Given the description of an element on the screen output the (x, y) to click on. 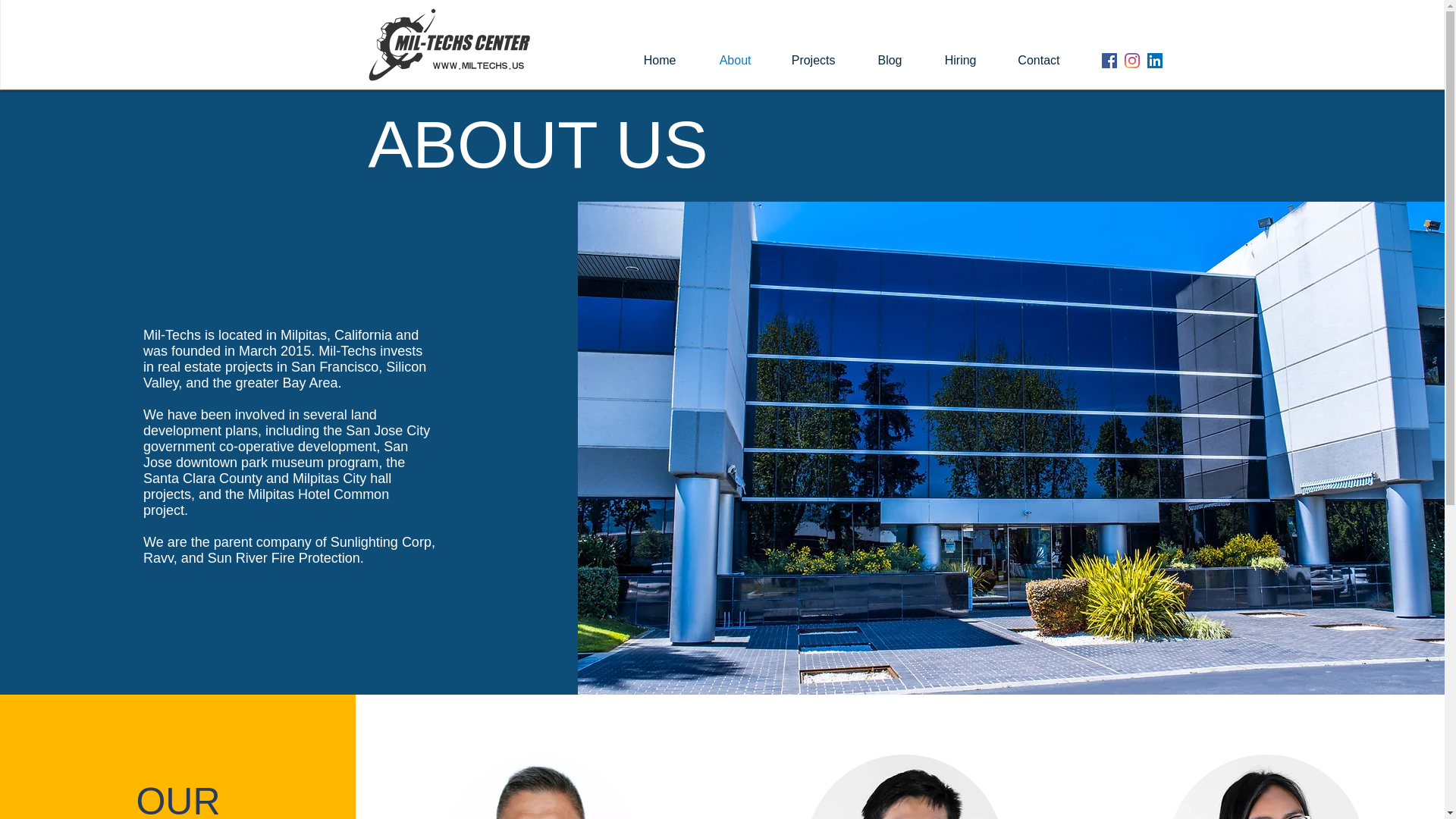
Blog (876, 60)
About (721, 60)
Hiring (947, 60)
Projects (800, 60)
Contact (1025, 60)
Home (645, 60)
